Given the description of an element on the screen output the (x, y) to click on. 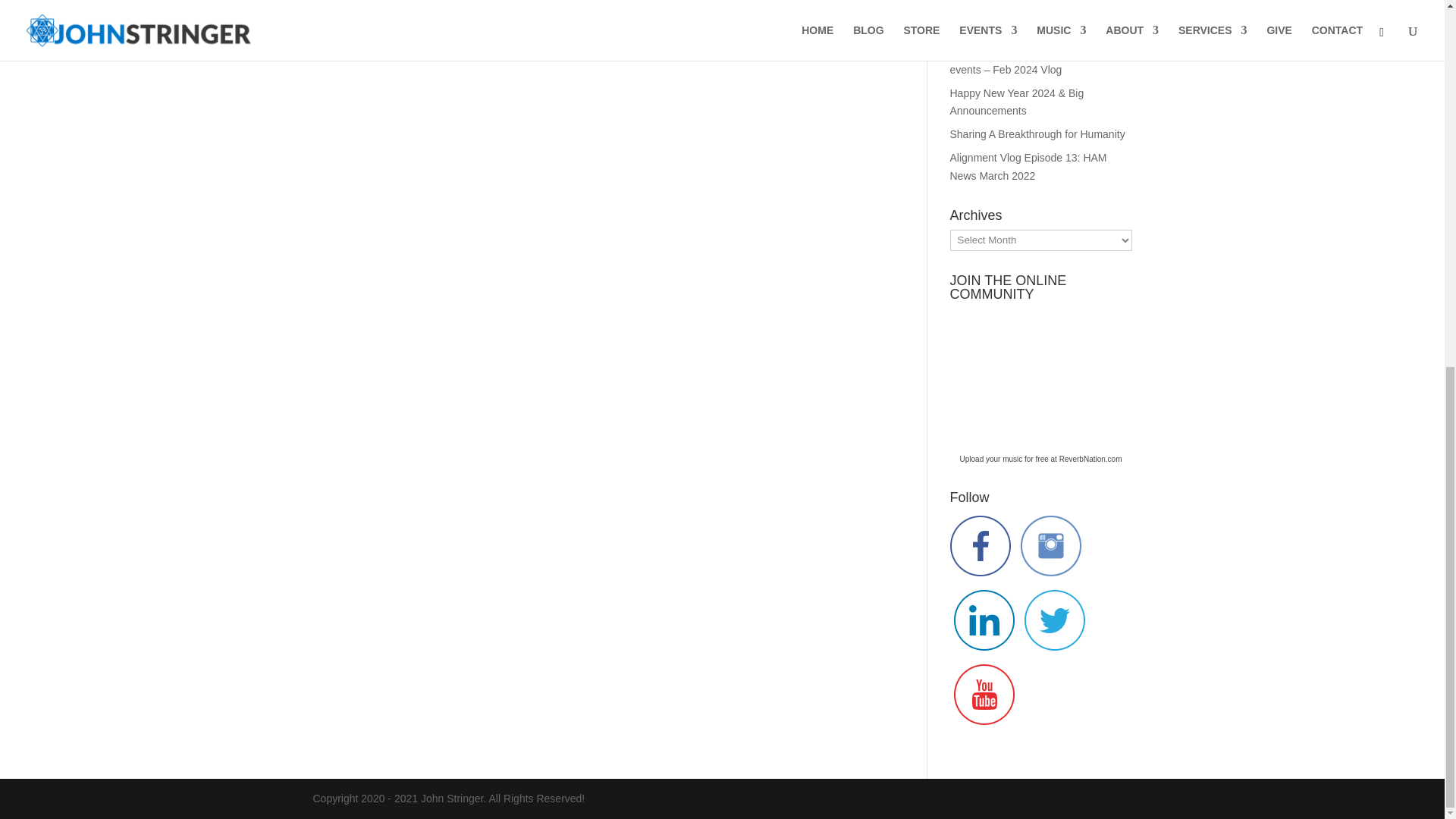
Recap of 2024 and Invitations to Make the Rest Better! (1040, 19)
